Given the description of an element on the screen output the (x, y) to click on. 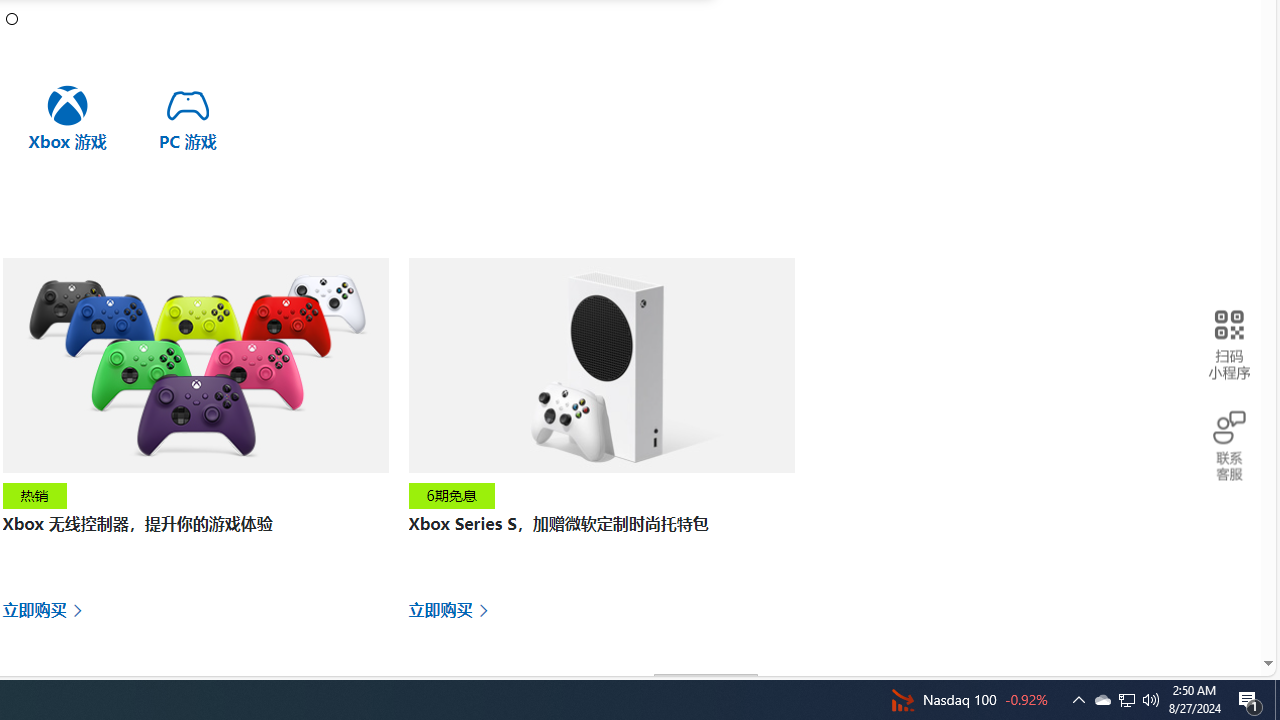
Set Descending Direction (772, 687)
Go to slide 3 (11, 18)
Select (706, 689)
